Given the description of an element on the screen output the (x, y) to click on. 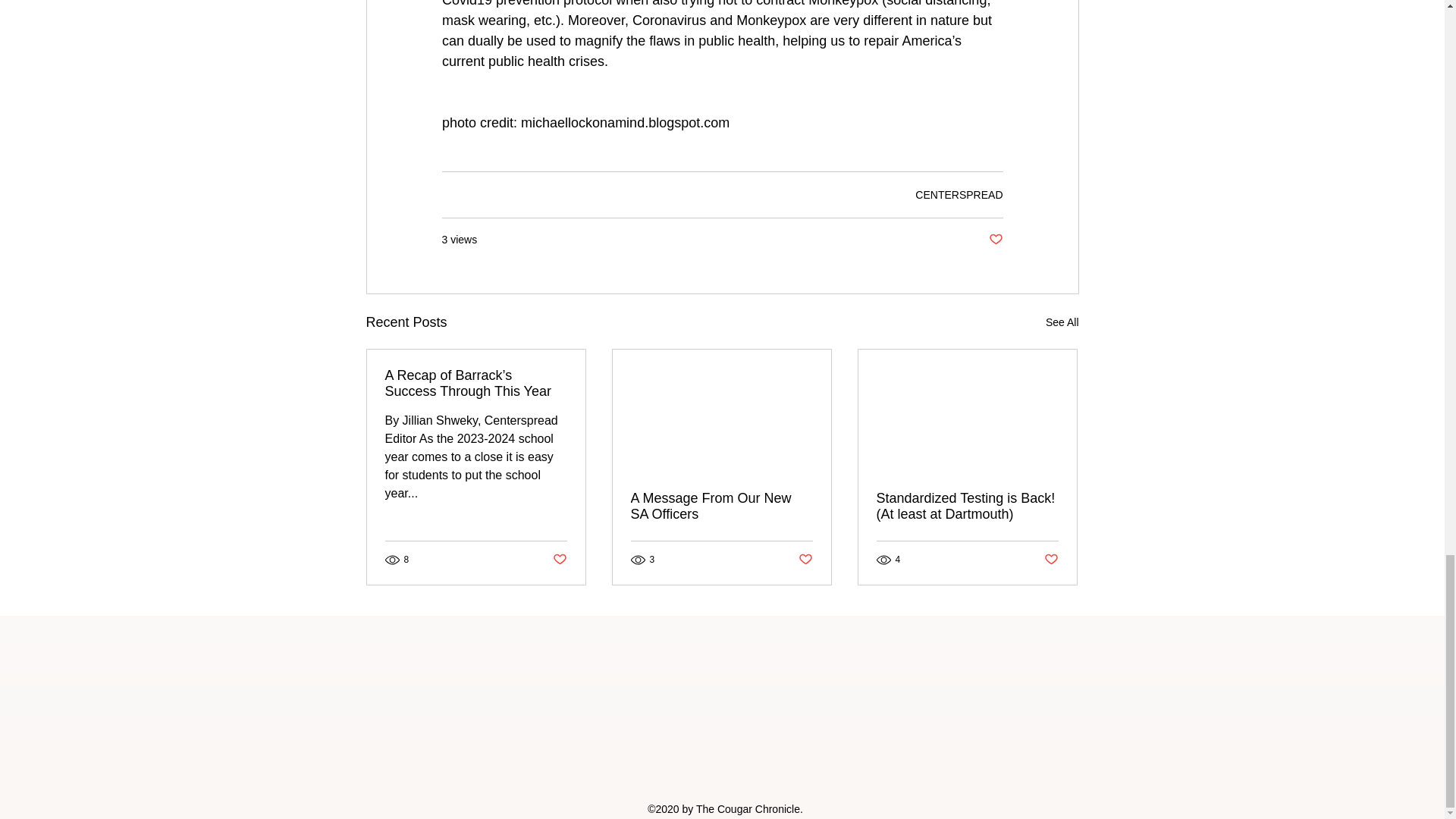
A Message From Our New SA Officers (721, 506)
Post not marked as liked (558, 560)
Post not marked as liked (995, 239)
See All (1061, 322)
Post not marked as liked (804, 560)
Post not marked as liked (1050, 560)
CENTERSPREAD (959, 193)
